Given the description of an element on the screen output the (x, y) to click on. 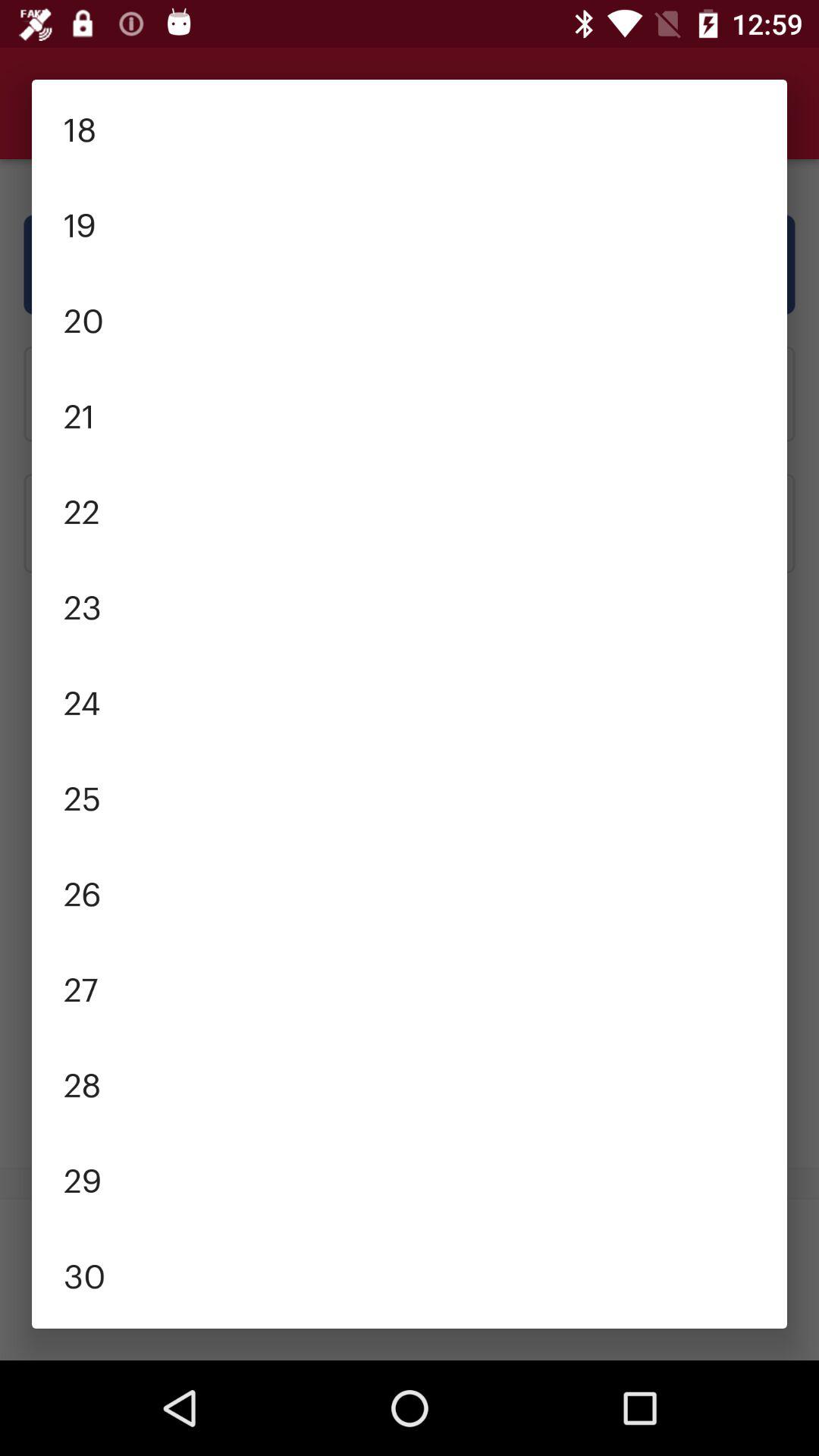
launch 20 item (409, 318)
